Given the description of an element on the screen output the (x, y) to click on. 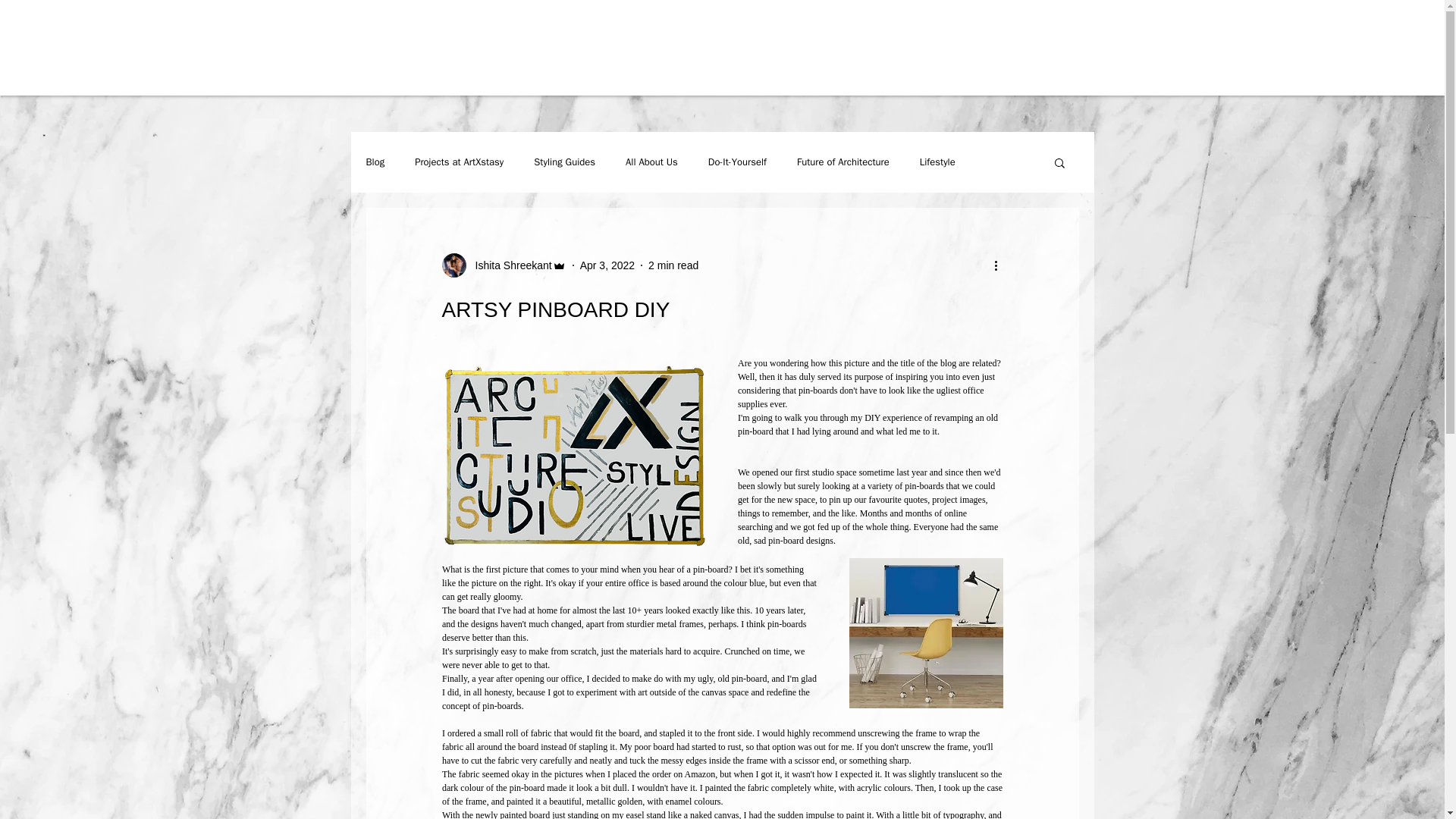
Lifestyle (937, 161)
Do-It-Yourself (737, 161)
Ishita Shreekant (503, 265)
Apr 3, 2022 (606, 265)
All About Us (652, 161)
Blog (374, 161)
Future of Architecture (842, 161)
Styling Guides (564, 161)
Projects at ArtXstasy (458, 161)
2 min read (672, 265)
